Given the description of an element on the screen output the (x, y) to click on. 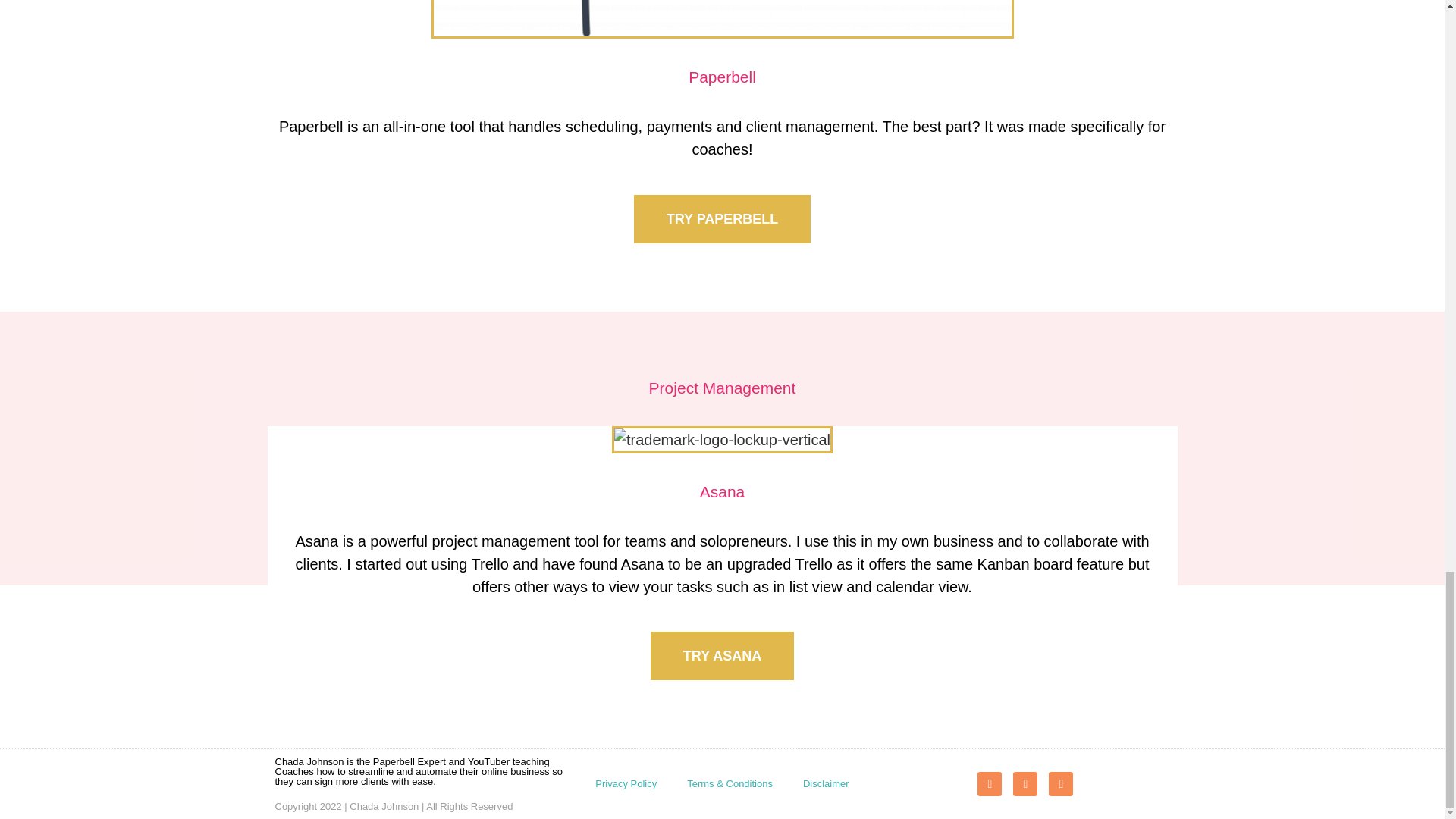
TRY PAPERBELL (721, 218)
Disclaimer (825, 783)
TRY ASANA (721, 655)
trademark-logo-lockup-vertical (721, 439)
Privacy Policy (625, 783)
